Given the description of an element on the screen output the (x, y) to click on. 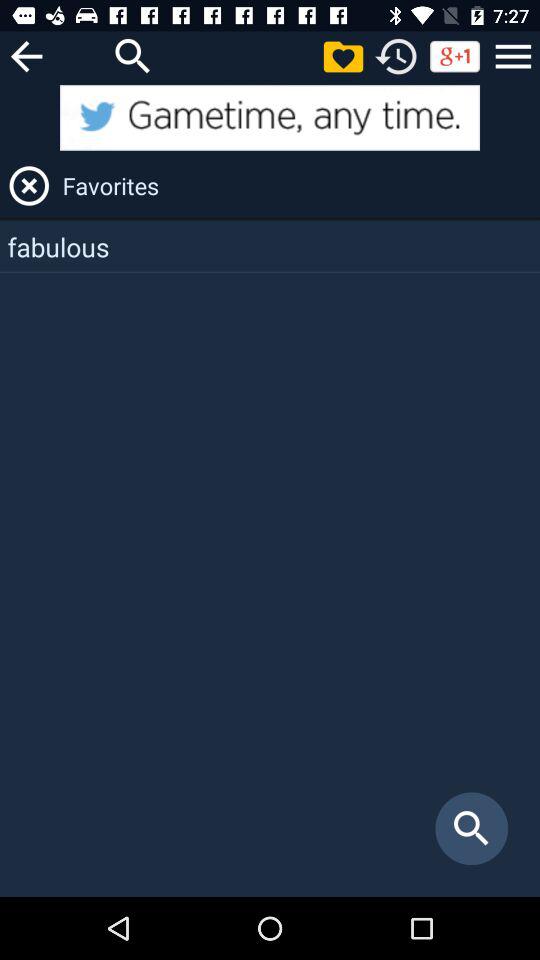
que no se te acaben las palabras (26, 56)
